Given the description of an element on the screen output the (x, y) to click on. 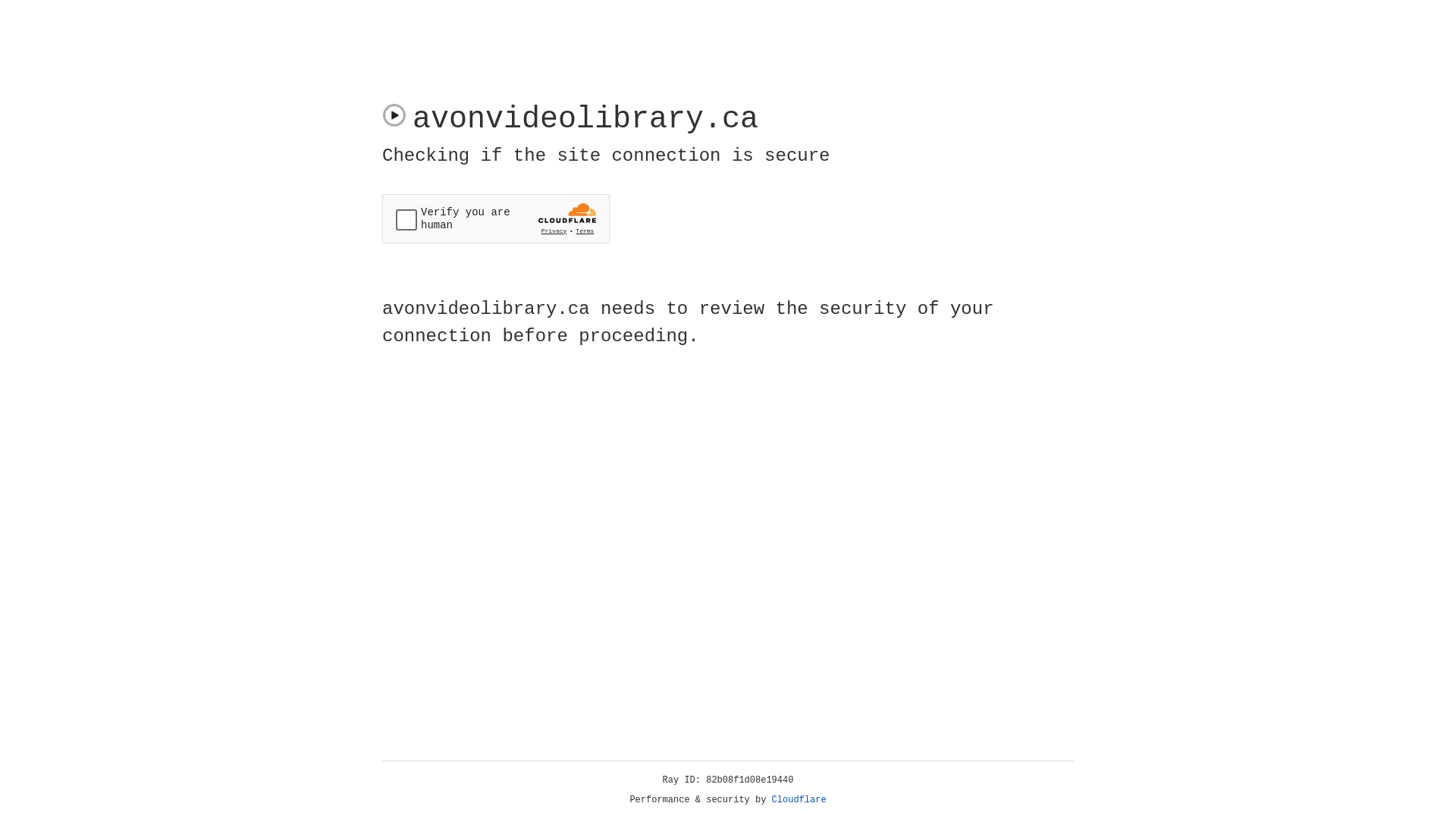
Cloudflare Element type: text (798, 799)
Widget containing a Cloudflare security challenge Element type: hover (495, 218)
